Given the description of an element on the screen output the (x, y) to click on. 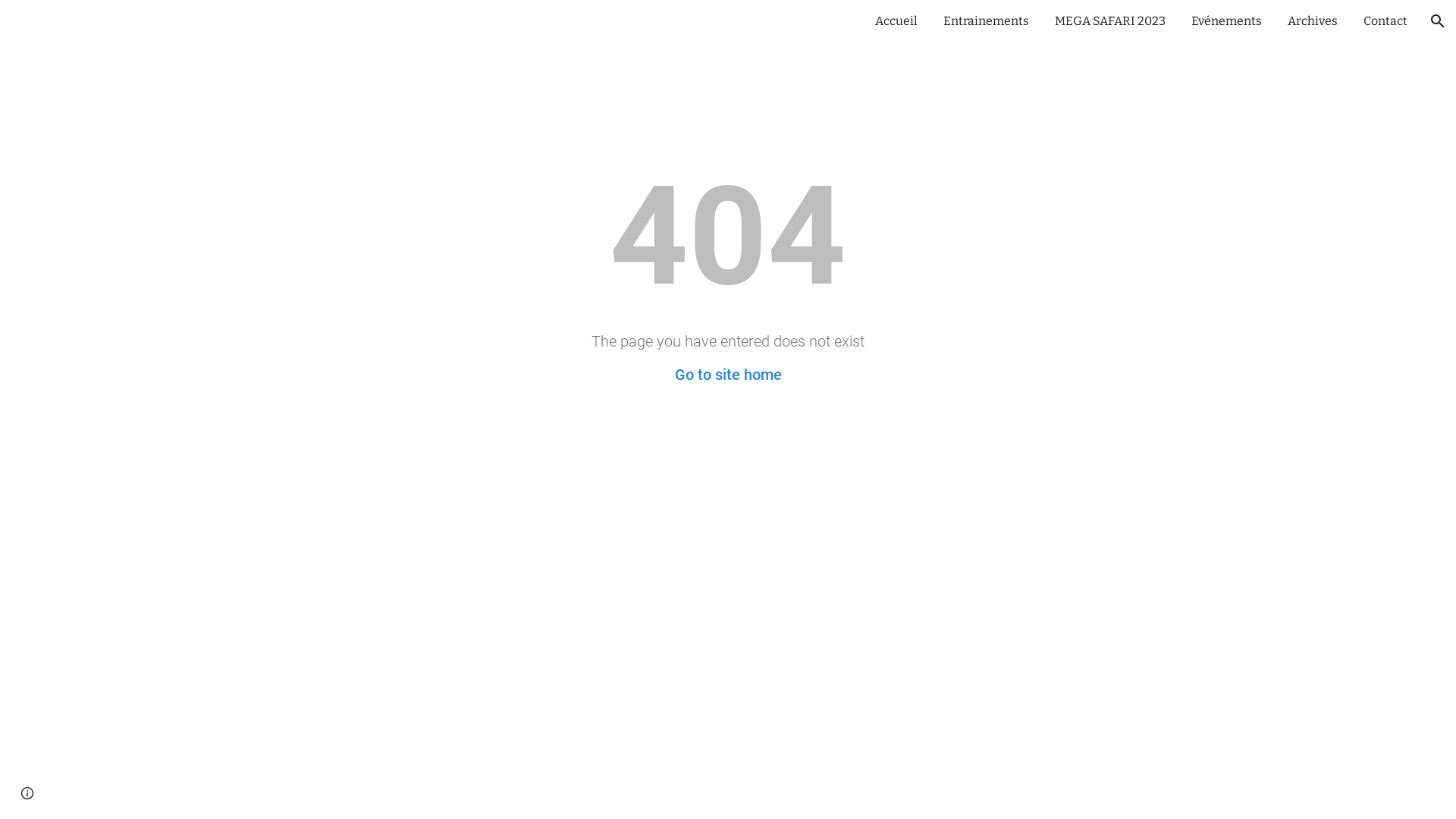
MEGA SAFARI 2023 Element type: text (1110, 20)
Archives Element type: text (1312, 20)
Accueil Element type: text (896, 20)
Go to site home Element type: text (727, 374)
Entrainements Element type: text (985, 20)
Contact Element type: text (1385, 20)
